Given the description of an element on the screen output the (x, y) to click on. 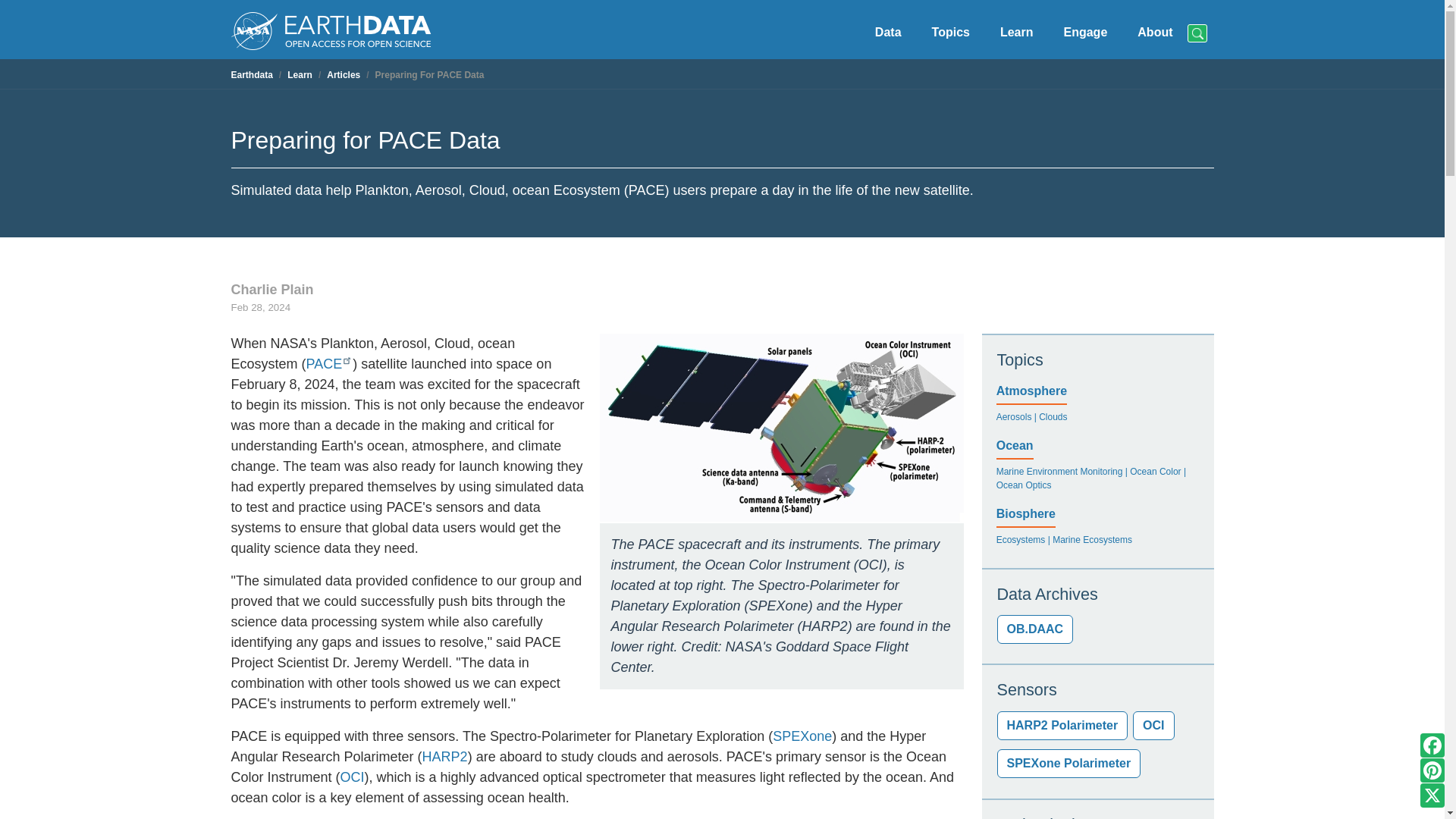
PACE and its Instruments  (780, 428)
HARP2 Polarimeter (1060, 725)
Learn (1016, 32)
Topics (951, 32)
Home (330, 29)
